Given the description of an element on the screen output the (x, y) to click on. 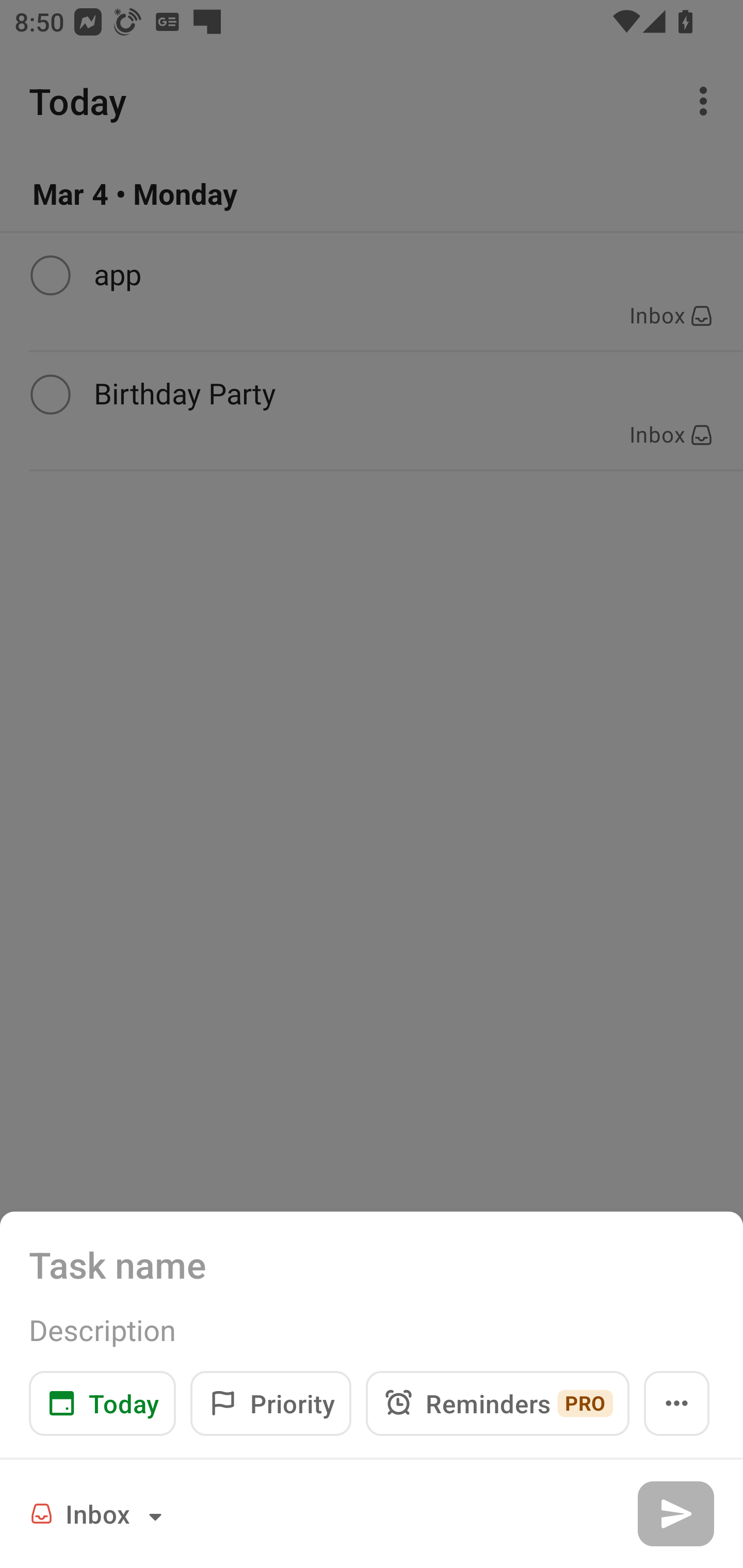
Task name (371, 1264)
Description (371, 1330)
Today Date (102, 1403)
Priority (270, 1403)
Reminders PRO Reminders (497, 1403)
Open menu (676, 1403)
Inbox Project (99, 1513)
Add (675, 1513)
